Given the description of an element on the screen output the (x, y) to click on. 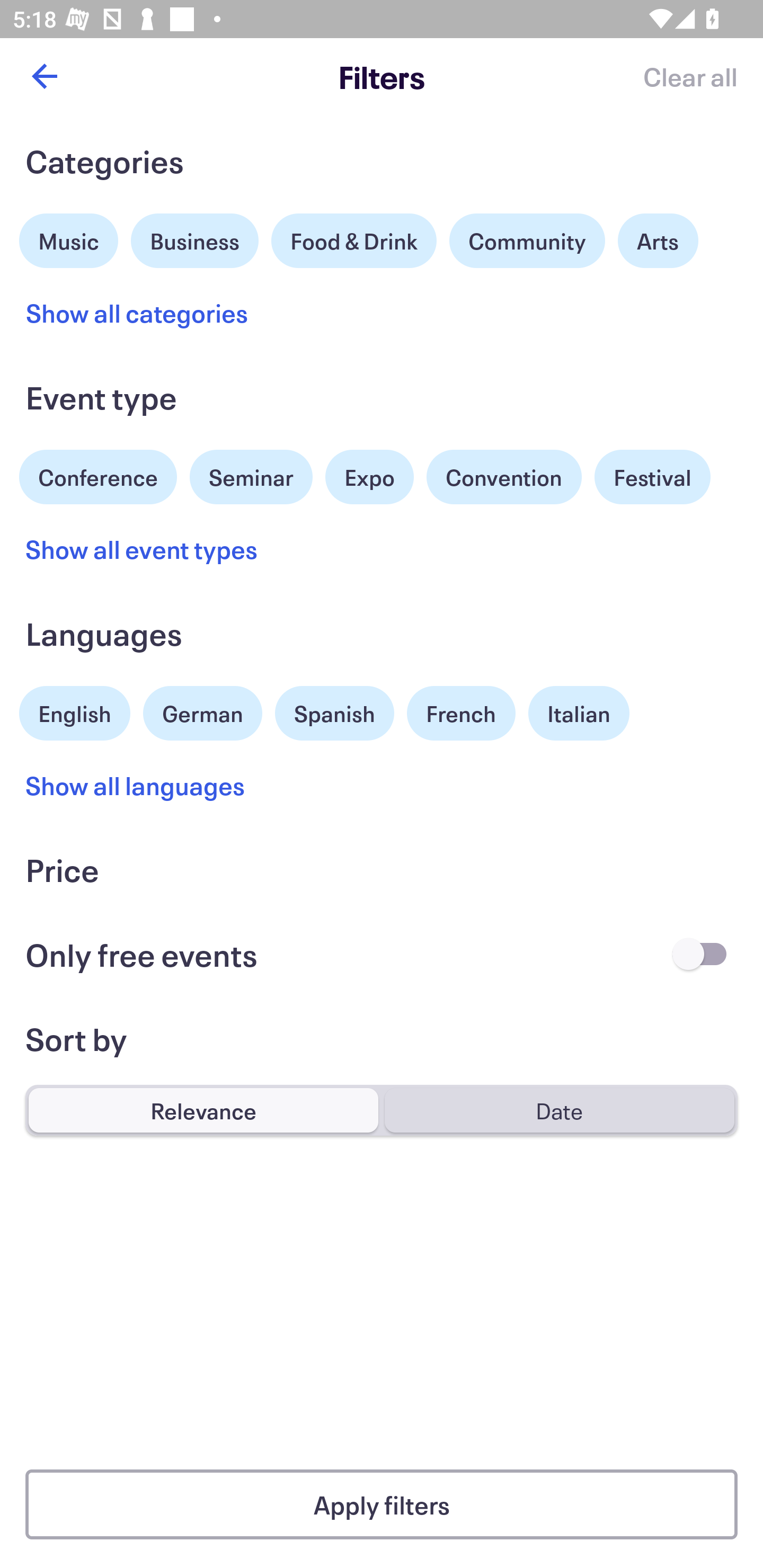
Back button (44, 75)
Clear all (690, 75)
Music (68, 238)
Business (194, 238)
Food & Drink (353, 240)
Community (527, 240)
Arts (658, 240)
Show all categories (136, 312)
Conference (98, 475)
Seminar (250, 477)
Expo (369, 477)
Convention (503, 477)
Festival (652, 477)
Show all event types (141, 548)
English (74, 710)
German (202, 710)
Spanish (334, 713)
French (460, 713)
Italian (578, 713)
Show all languages (135, 784)
Relevance (203, 1109)
Date (559, 1109)
Apply filters (381, 1504)
